Given the description of an element on the screen output the (x, y) to click on. 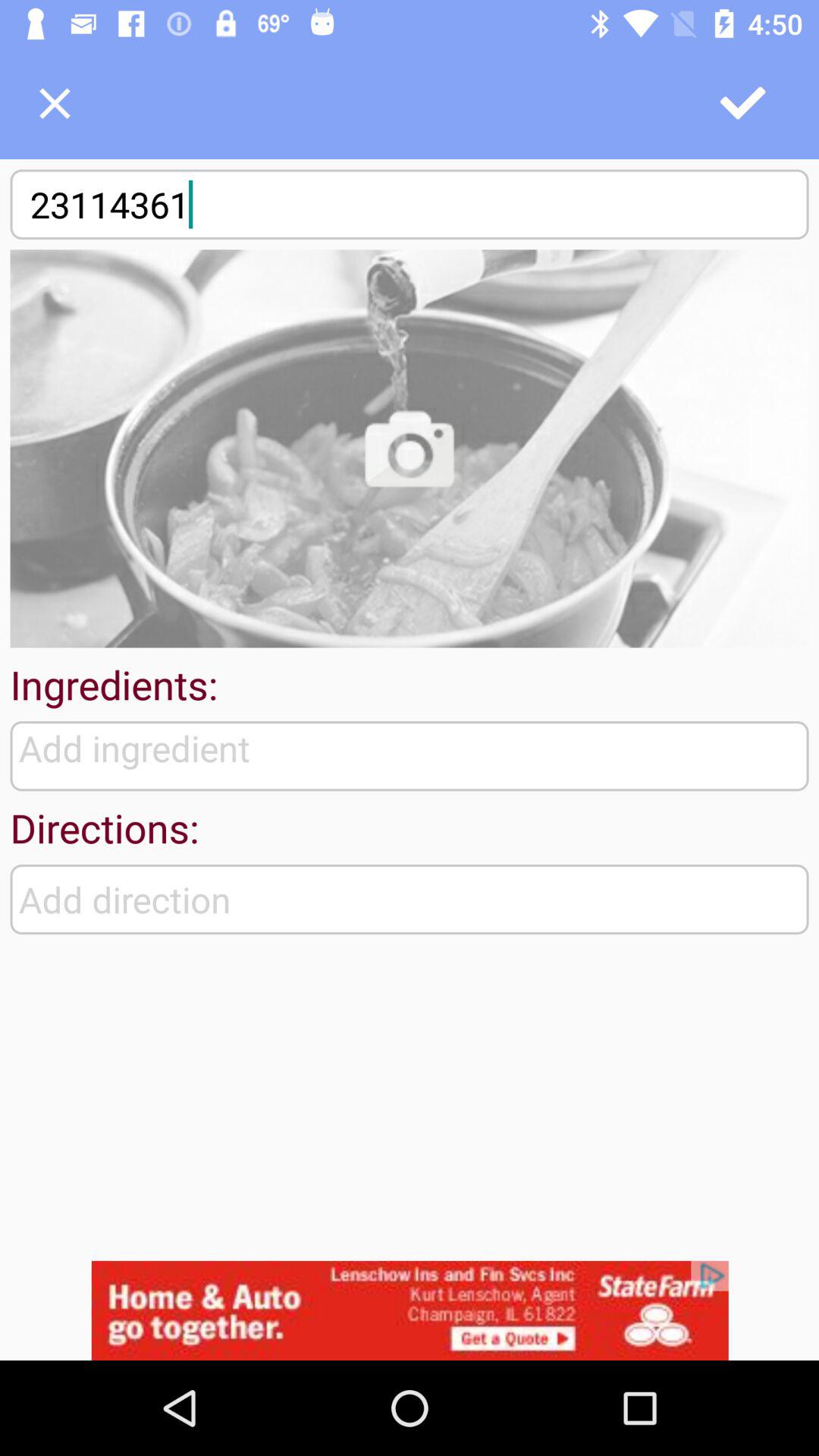
inform me (409, 448)
